Given the description of an element on the screen output the (x, y) to click on. 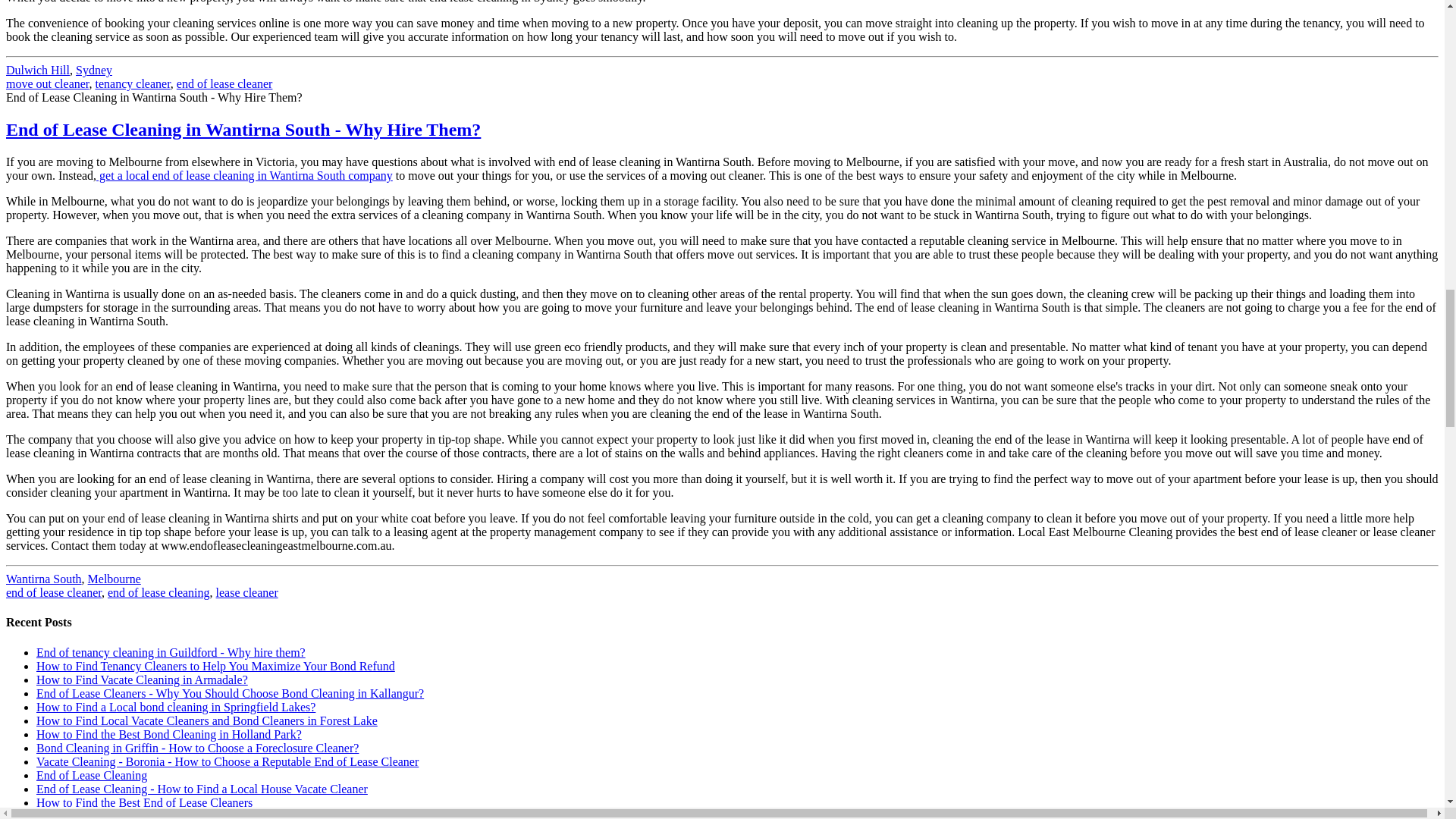
Wantirna South (43, 578)
end of lease cleaning (158, 592)
End of tenancy cleaning in Guildford - Why hire them? (170, 652)
tenancy cleaner (133, 83)
End of Lease Cleaning in Wantirna South - Why Hire Them? (242, 129)
How to Find Vacate Cleaning in Armadale? (141, 679)
How to Find the Best Bond Cleaning in Holland Park? (168, 734)
Sydney (93, 69)
Melbourne (114, 578)
get a local end of lease cleaning in Wantirna South company (244, 174)
end of lease cleaner (224, 83)
How to Find a Local bond cleaning in Springfield Lakes? (175, 707)
